Given the description of an element on the screen output the (x, y) to click on. 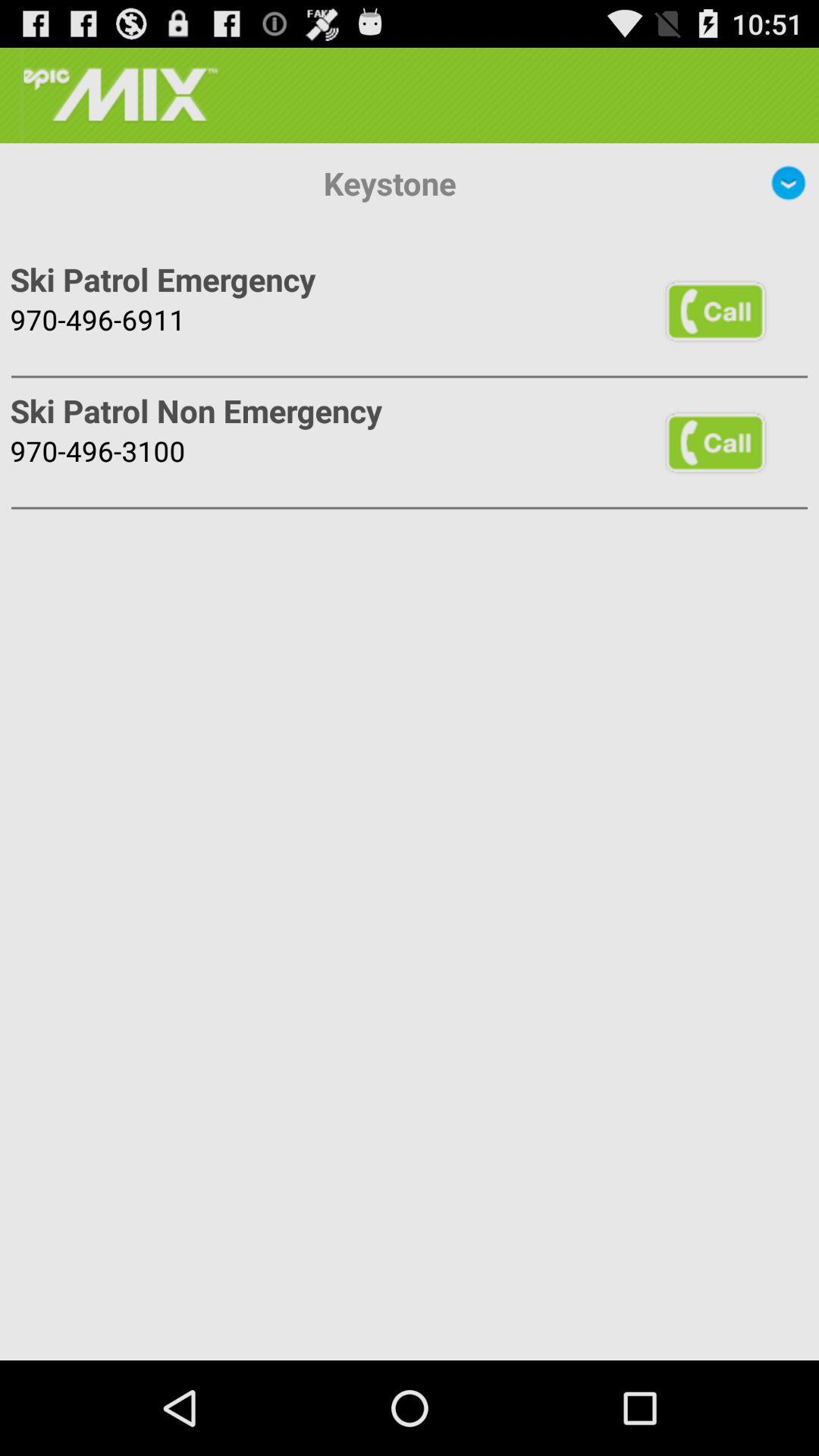
turn on icon below keystone (714, 310)
